Given the description of an element on the screen output the (x, y) to click on. 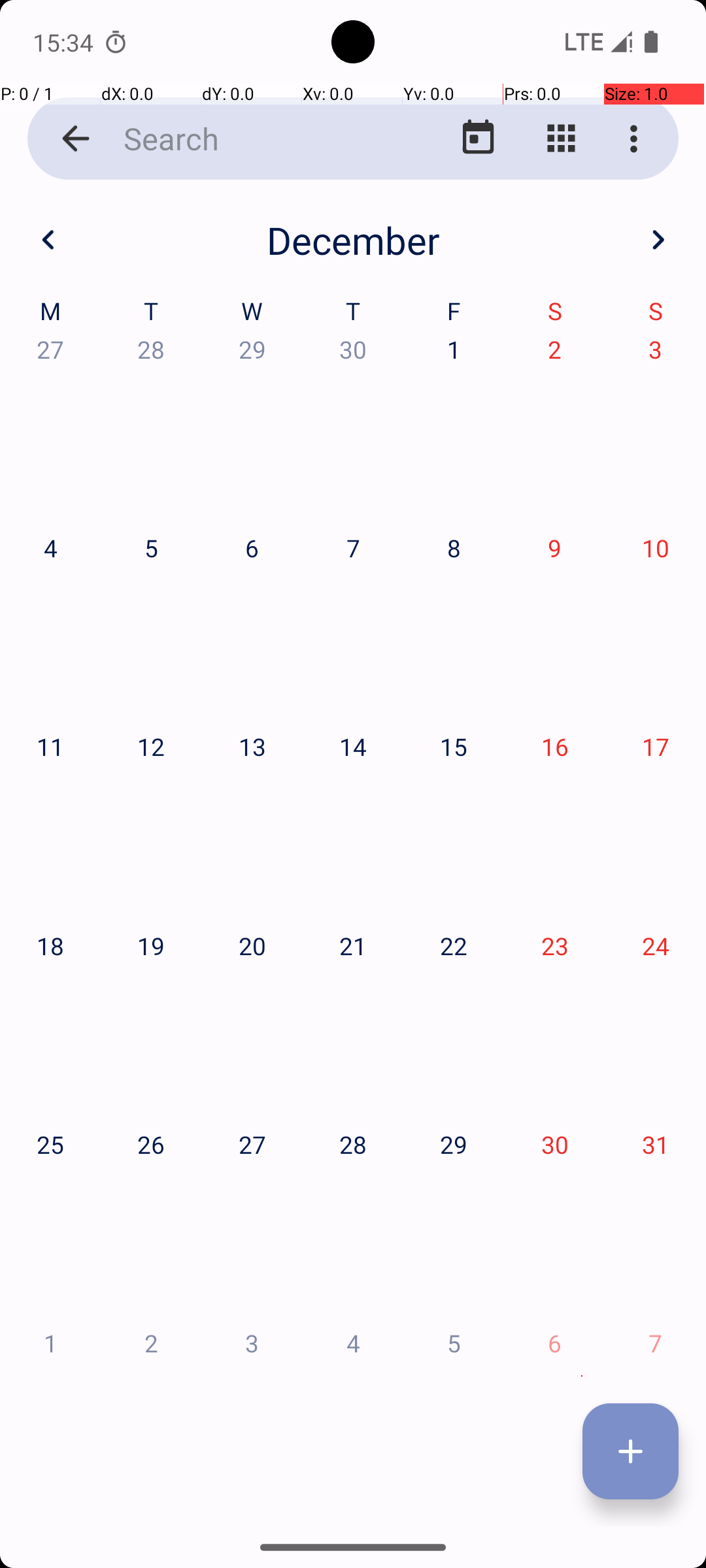
December Element type: android.widget.TextView (352, 239)
